Given the description of an element on the screen output the (x, y) to click on. 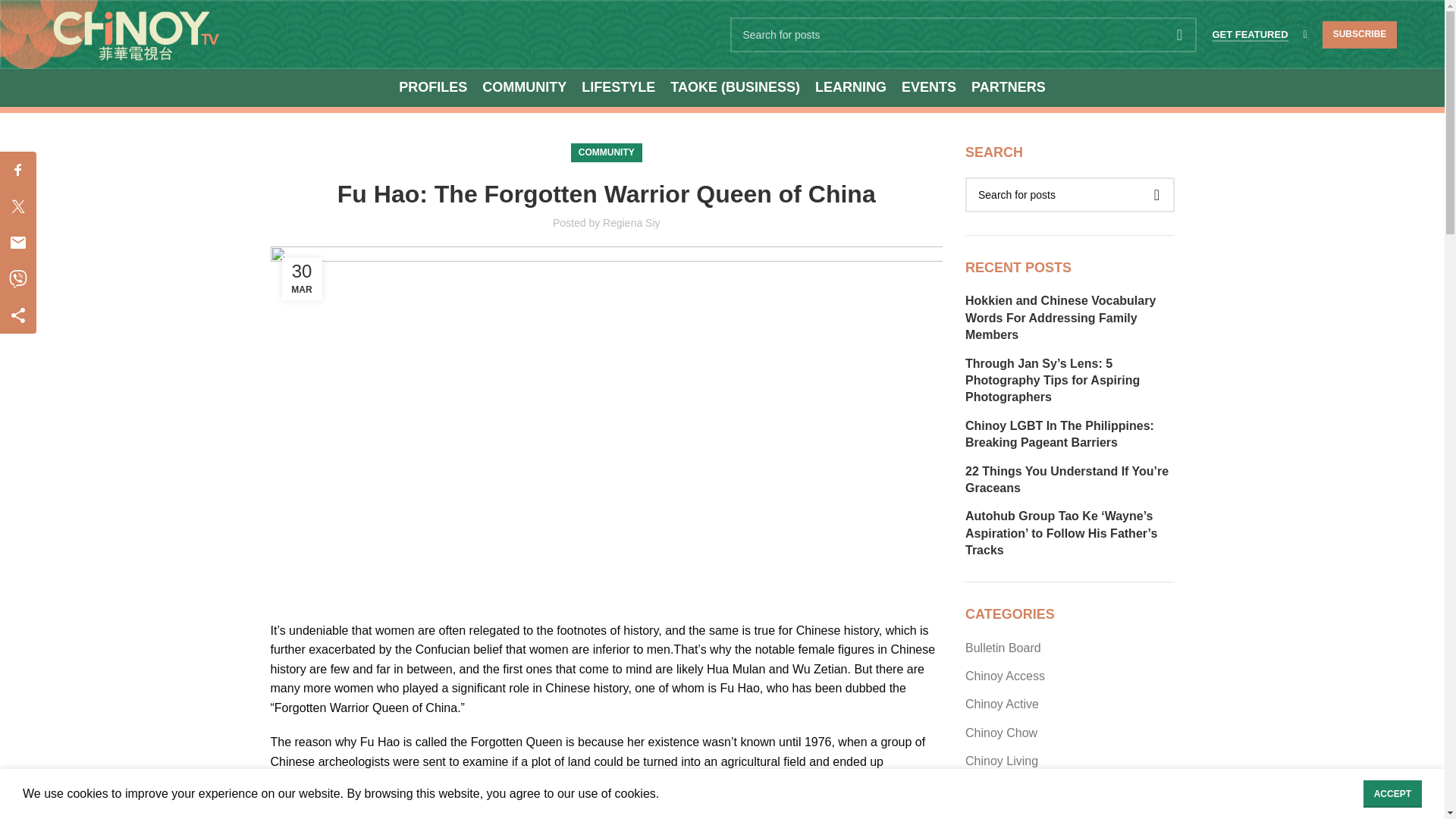
COMMUNITY (523, 87)
LIFESTYLE (617, 87)
LEARNING (850, 87)
SUBSCRIBE (1359, 34)
Search for posts (962, 33)
COMMUNITY (606, 152)
Search for posts (1069, 194)
EVENTS (928, 87)
SEARCH (1178, 33)
PARTNERS (1008, 87)
GET FEATURED (1249, 35)
PROFILES (432, 87)
Regiena Siy (631, 223)
